Given the description of an element on the screen output the (x, y) to click on. 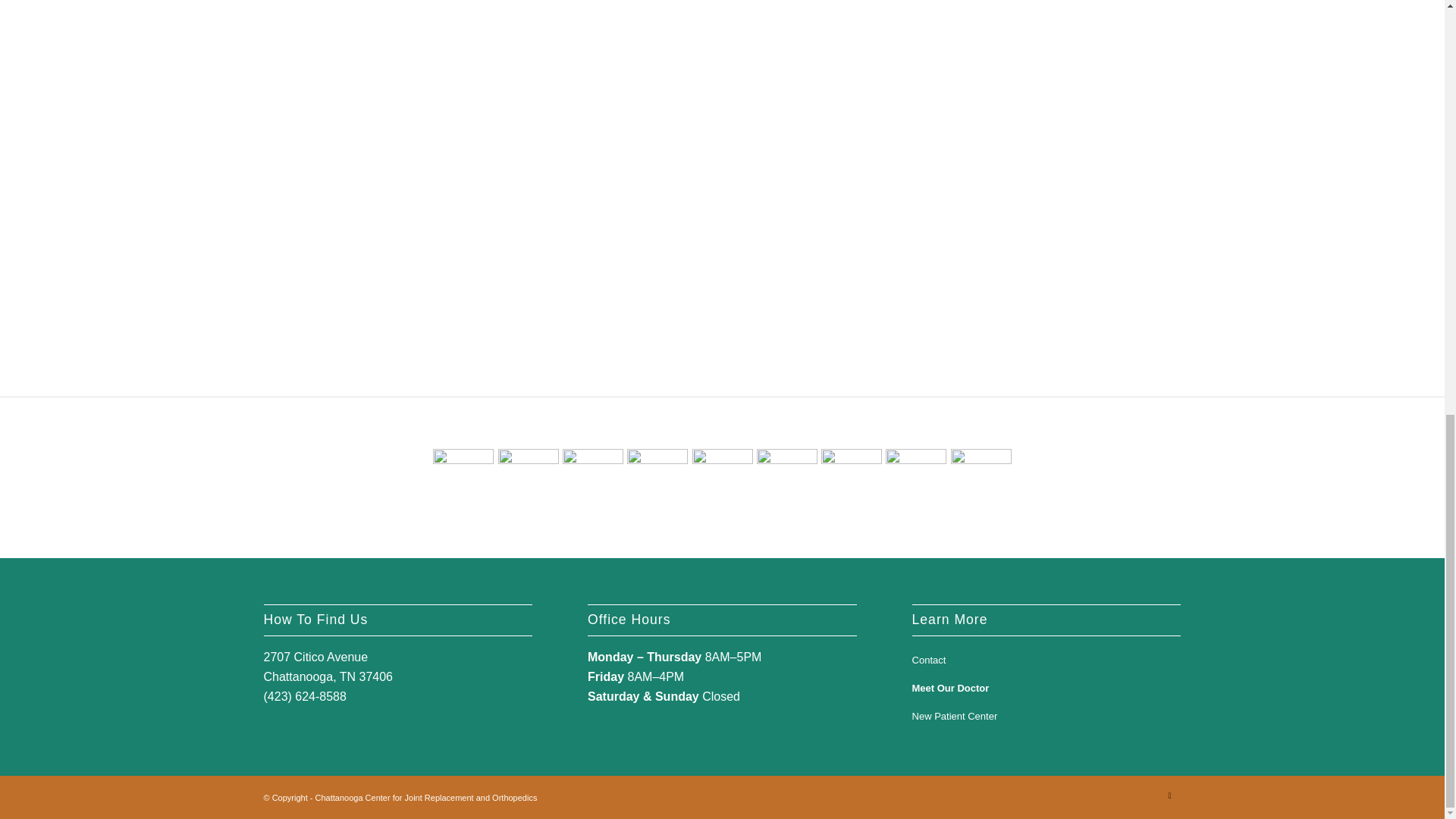
New Patient Center (1046, 716)
Contact (1046, 660)
Facebook (1169, 794)
Meet Our Doctor (1046, 688)
